Given the description of an element on the screen output the (x, y) to click on. 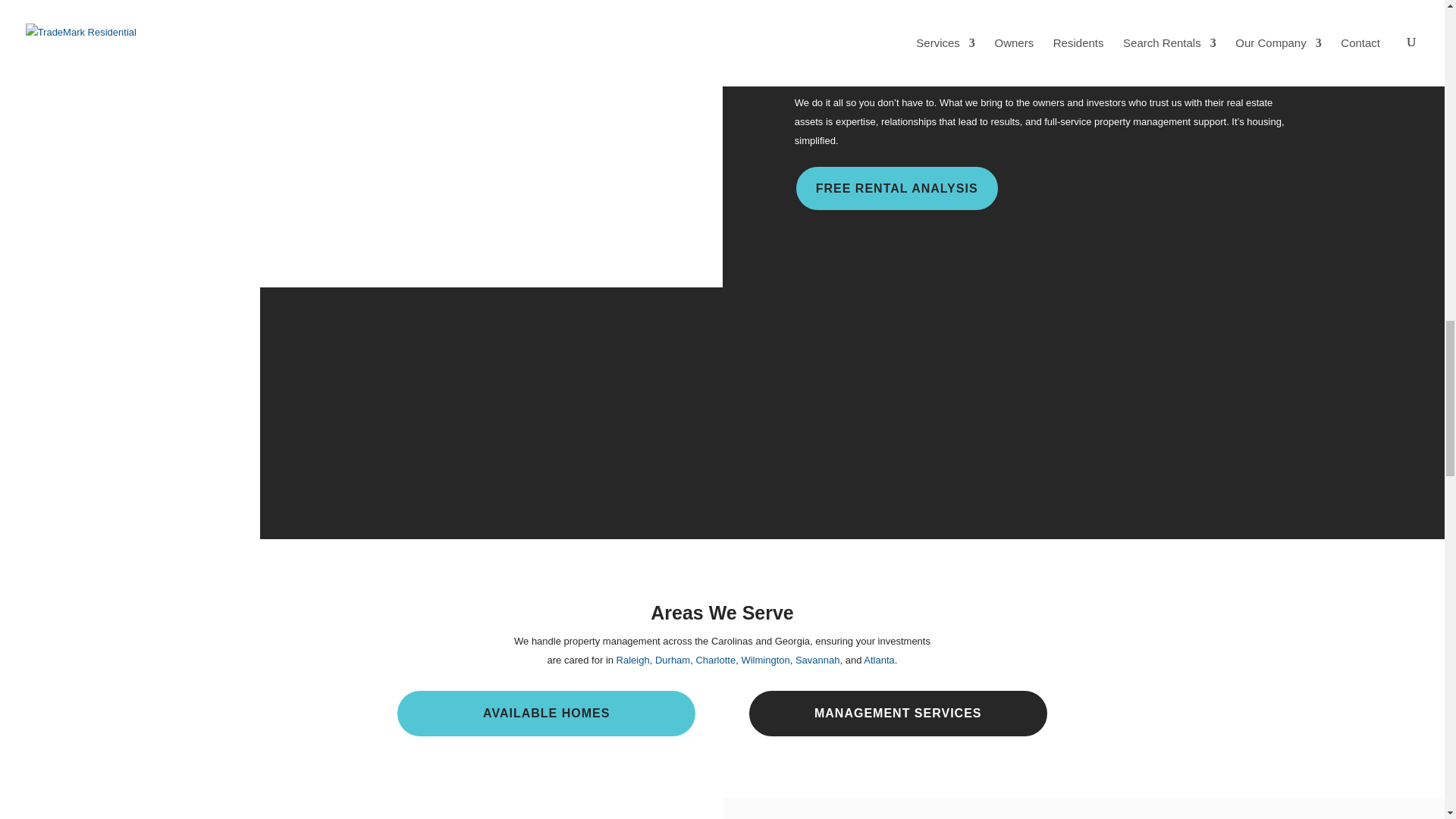
AVAILABLE HOMES (546, 713)
Atlanta (878, 659)
MANAGEMENT SERVICES (897, 713)
Raleigh (632, 659)
Durham (672, 659)
Savannah (817, 659)
Wilmington (765, 659)
Charlotte (715, 659)
FREE RENTAL ANALYSIS (896, 187)
